Given the description of an element on the screen output the (x, y) to click on. 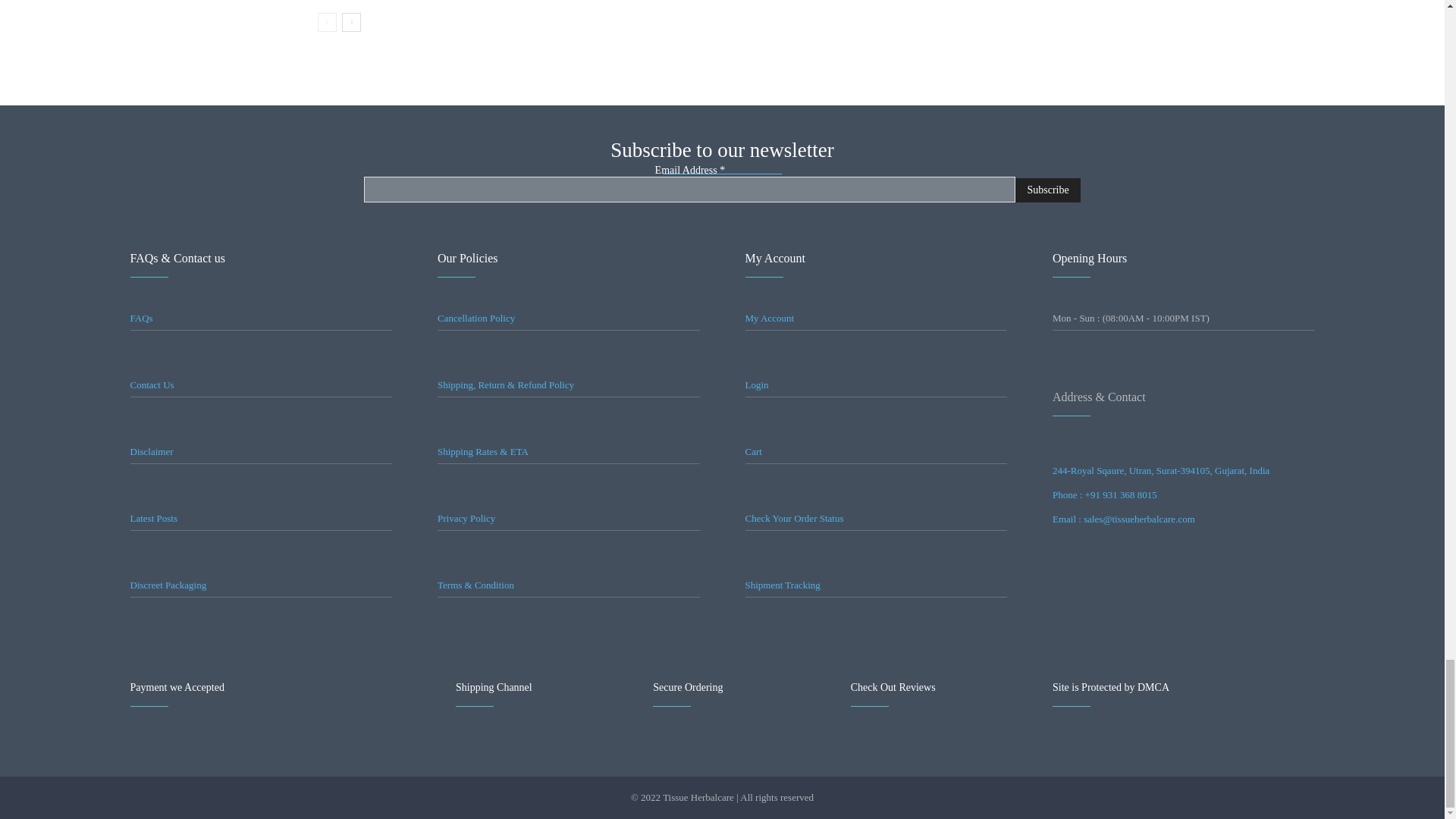
Subscribe (1047, 190)
